Given the description of an element on the screen output the (x, y) to click on. 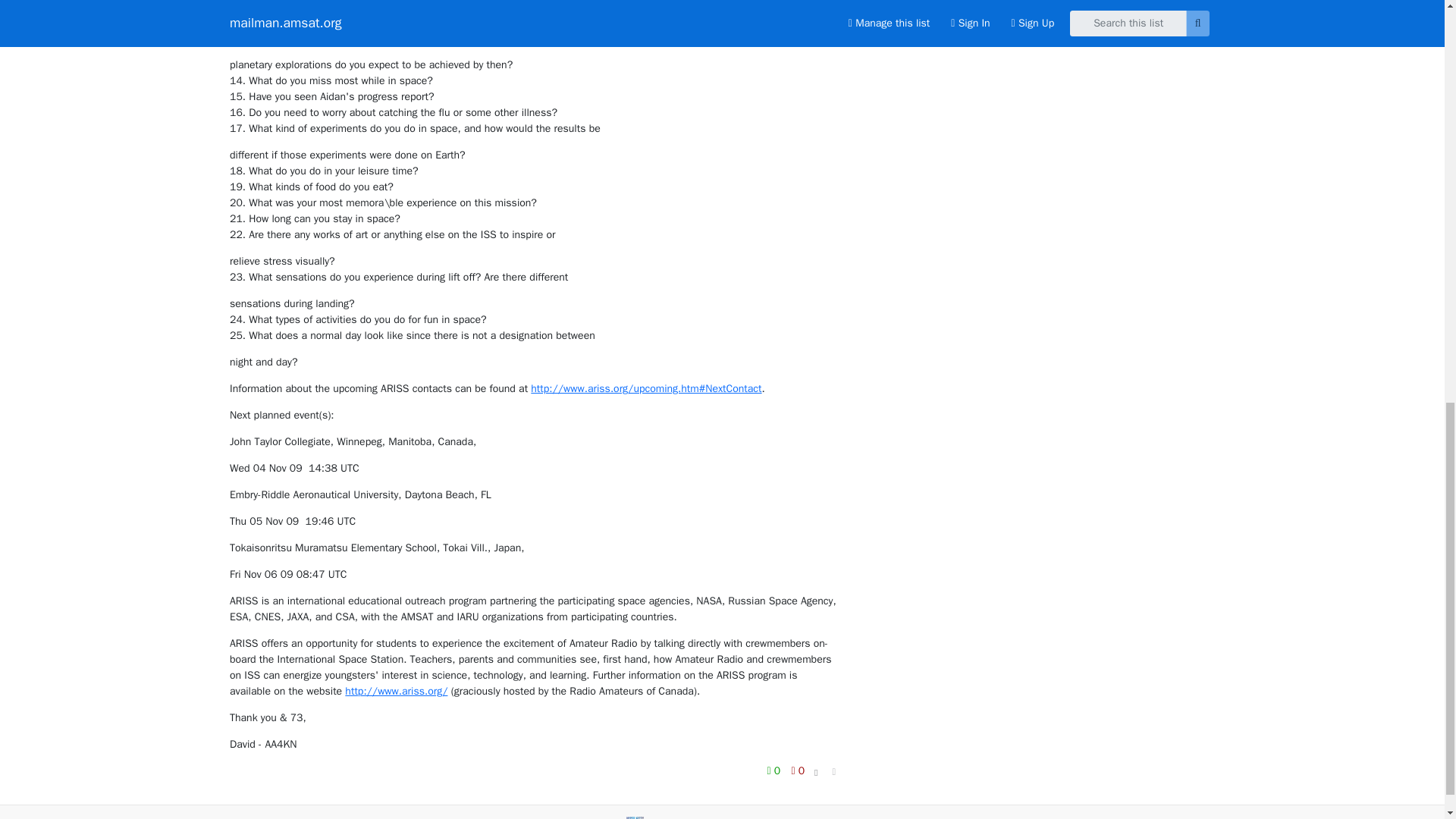
You must be logged-in to vote. (797, 770)
You must be logged-in to vote. (774, 770)
0 (774, 770)
0 (797, 770)
HyperKitty (727, 818)
